Given the description of an element on the screen output the (x, y) to click on. 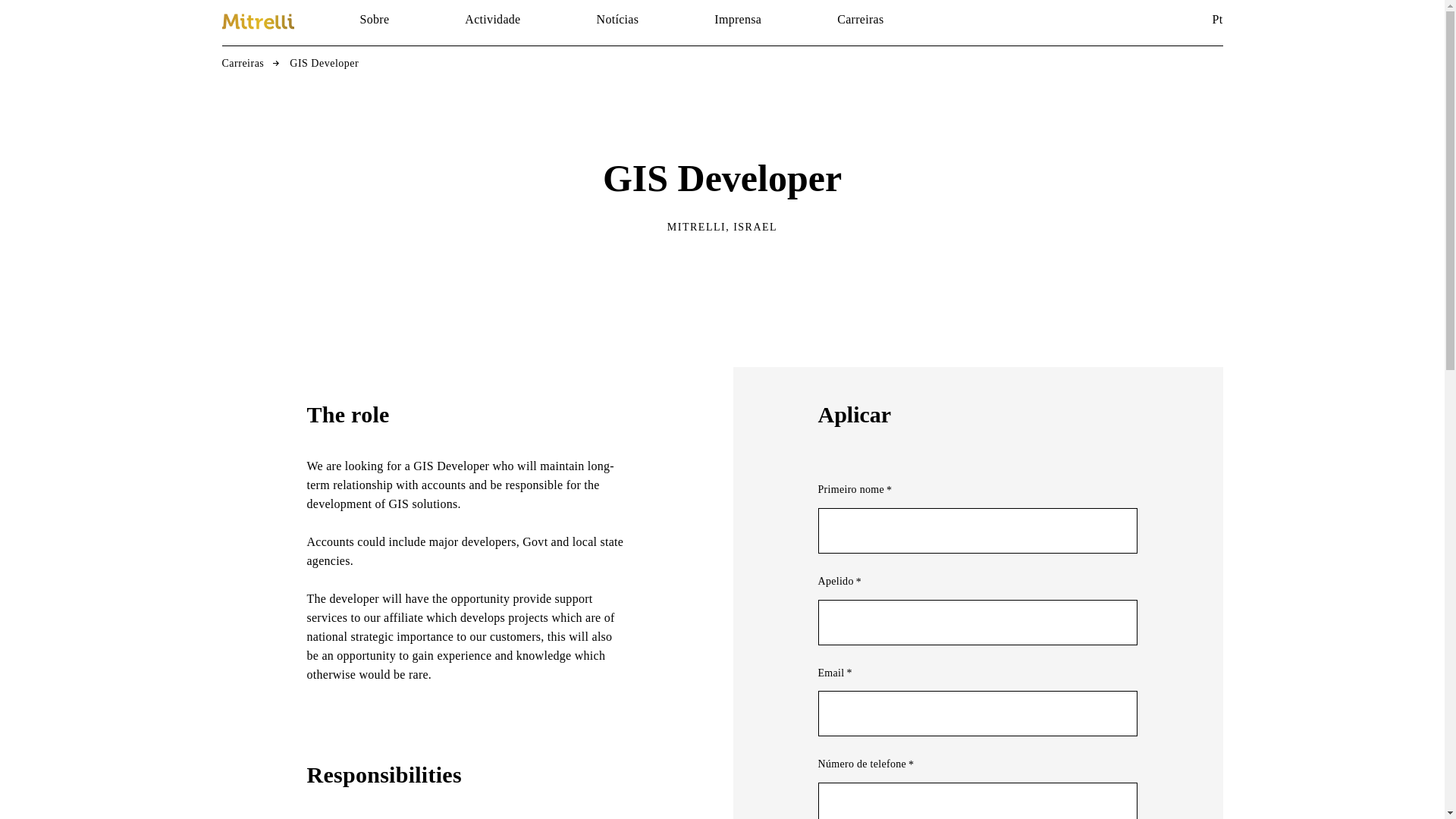
Imprensa (737, 19)
Actividade (491, 19)
Sobre (373, 19)
Carreiras (242, 64)
Carreiras (860, 19)
